Given the description of an element on the screen output the (x, y) to click on. 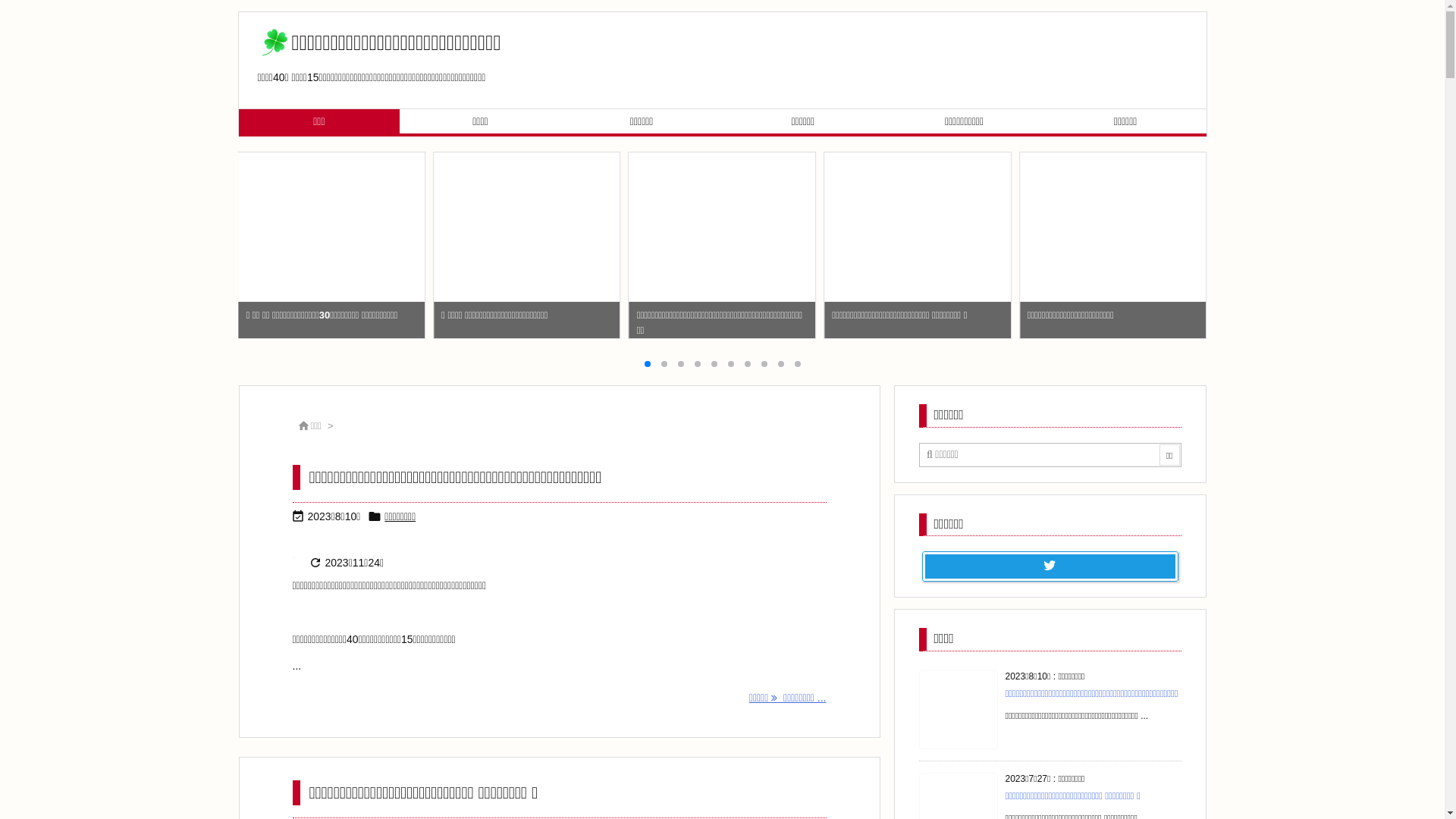
Twitter Element type: hover (1049, 566)
